Given the description of an element on the screen output the (x, y) to click on. 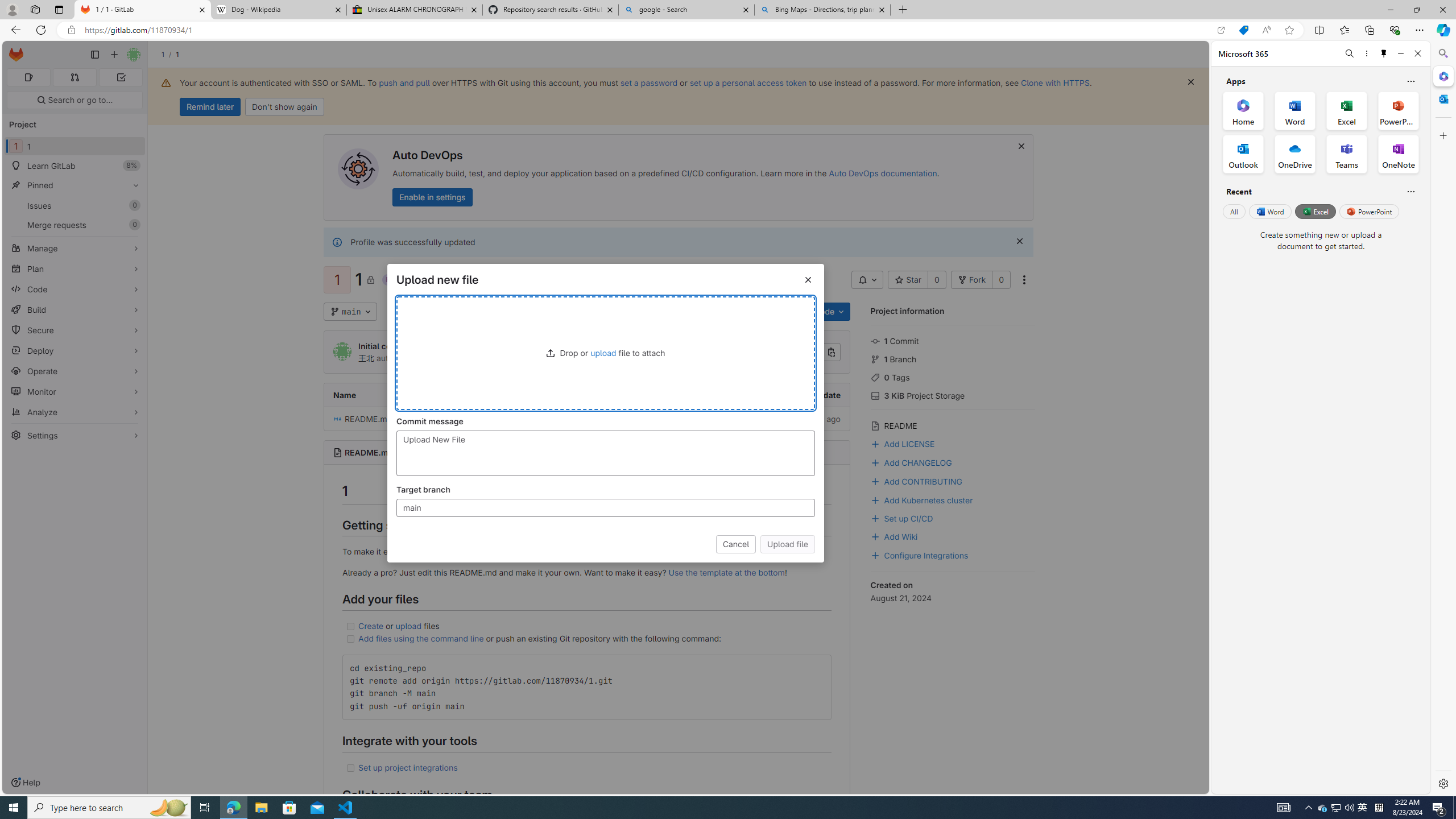
Add LICENSE (952, 442)
Class: tree-item (587, 418)
3 KiB Project Storage (952, 394)
Operate (74, 370)
README (952, 424)
More actions (1023, 280)
Class: task-list-item-checkbox (349, 767)
